Given the description of an element on the screen output the (x, y) to click on. 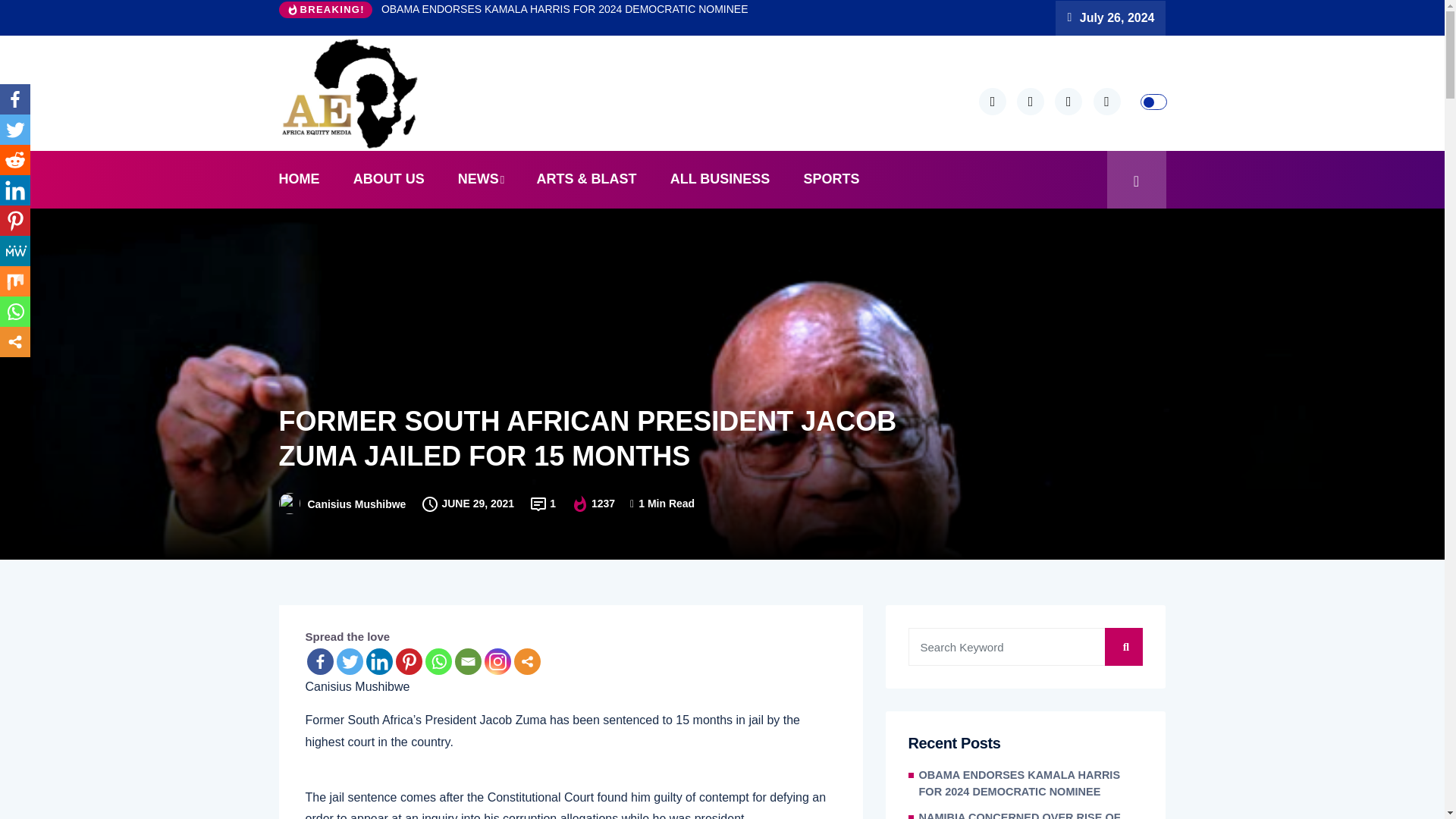
Pinterest (15, 220)
LinkedIn (15, 190)
Whatsapp (15, 311)
More (526, 661)
NEWS (480, 179)
Twitter (15, 129)
Reddit (15, 159)
OBAMA ENDORSES KAMALA HARRIS FOR 2024 DEMOCRATIC NOMINEE (564, 9)
Pinterest (409, 661)
MeWe (15, 250)
HOME (306, 179)
Email (467, 661)
Mix (15, 281)
SPORTS (832, 179)
Facebook (319, 661)
